Given the description of an element on the screen output the (x, y) to click on. 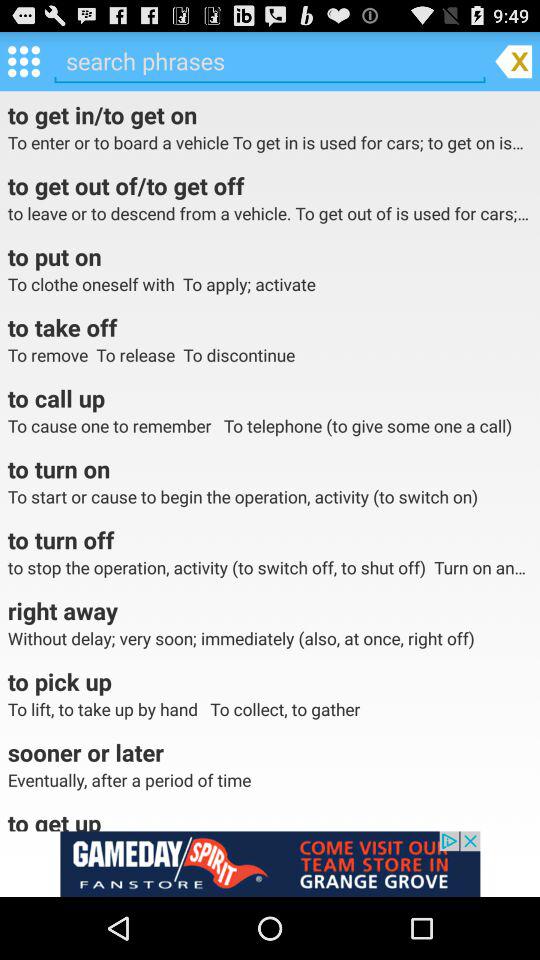
close the app (513, 60)
